Given the description of an element on the screen output the (x, y) to click on. 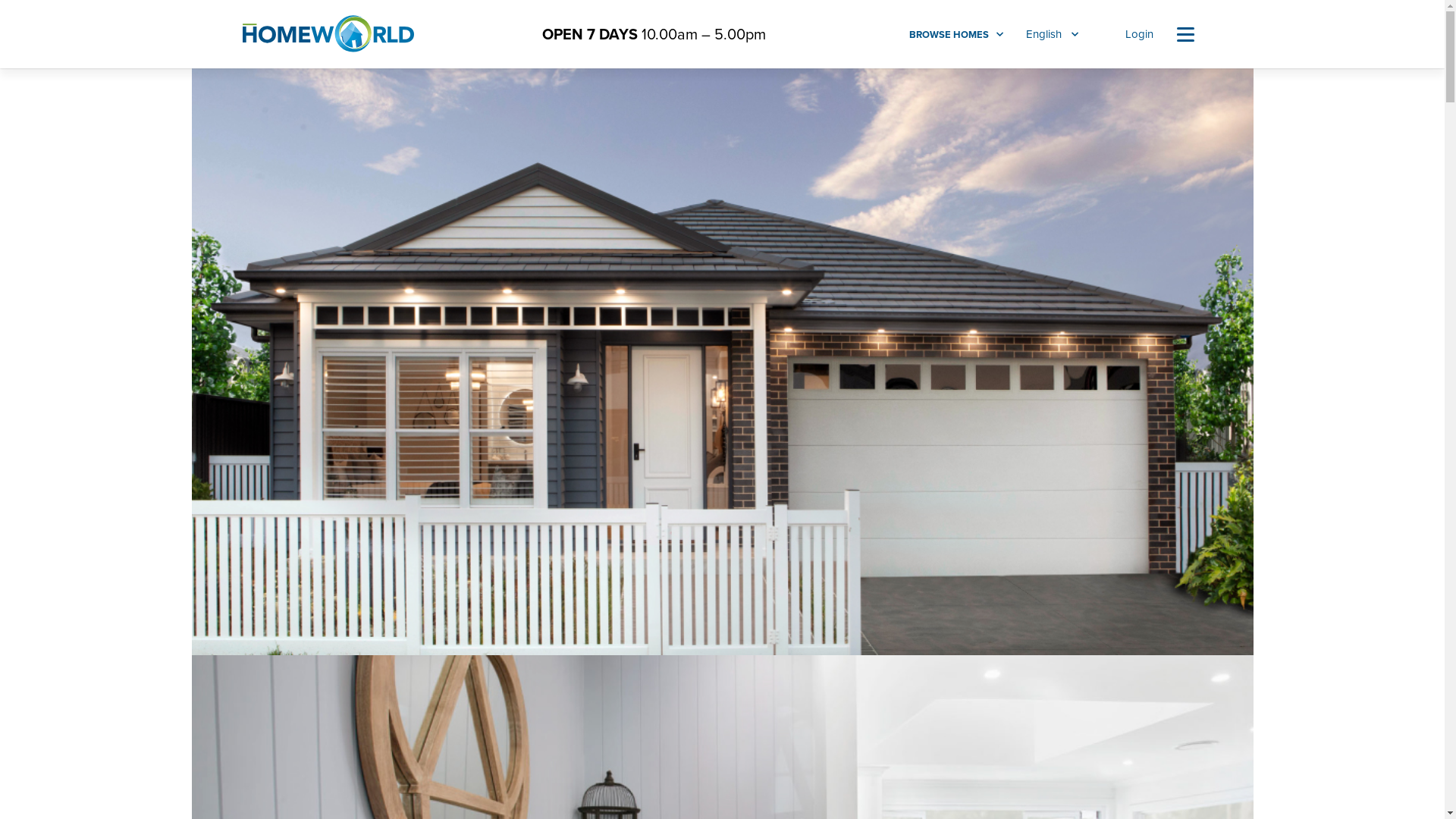
BROWSE HOMES Element type: text (956, 33)
Favourites Element type: text (1101, 33)
English Element type: text (1051, 33)
Login Element type: text (1139, 33)
Search Element type: text (1021, 27)
Submit Element type: text (936, 752)
Navigation Element type: text (1185, 33)
HomeWorld Element type: text (328, 33)
